Given the description of an element on the screen output the (x, y) to click on. 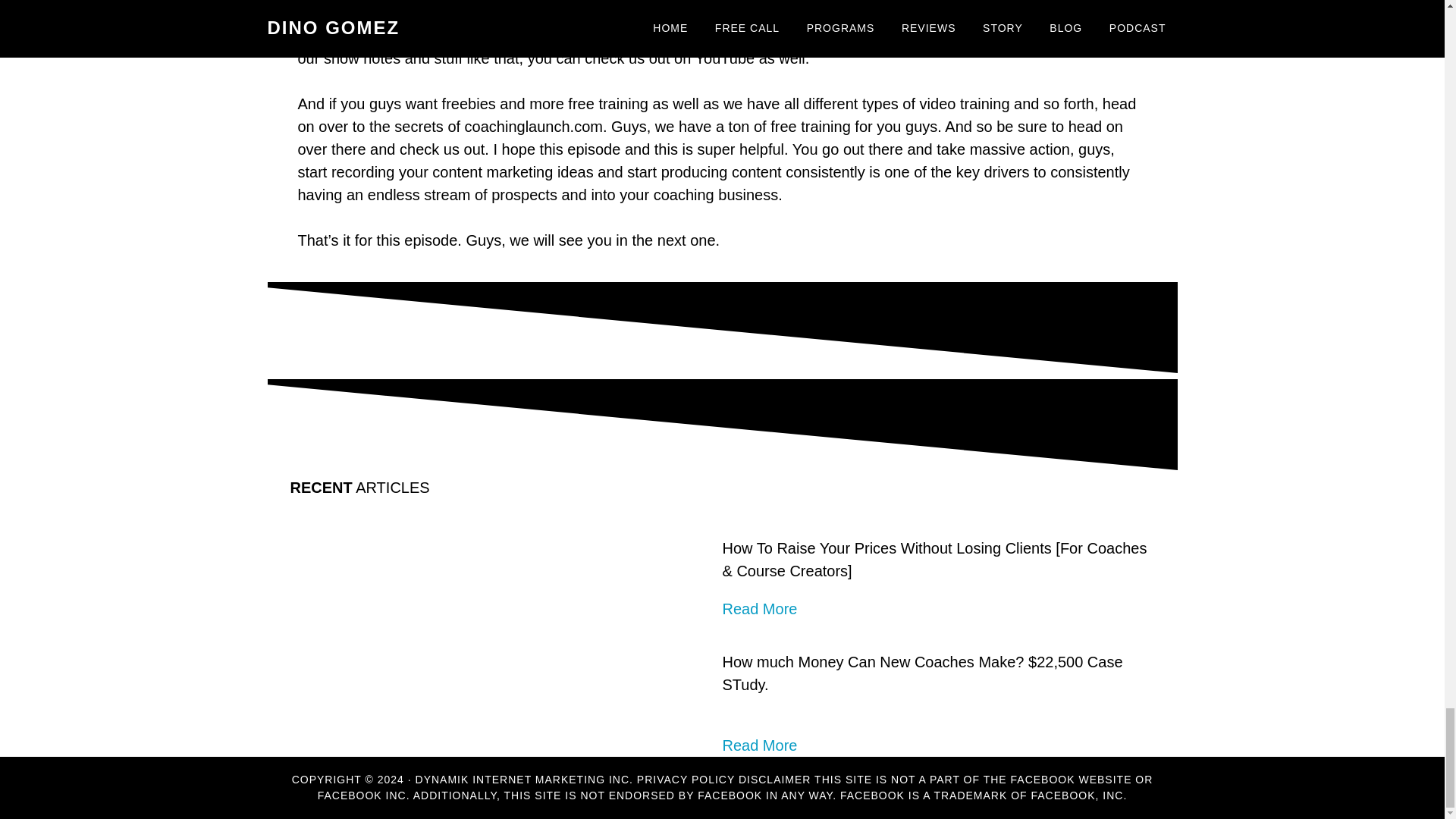
PRIVACY POLICY (686, 779)
DISCLAIMER (774, 779)
Read More (759, 608)
Read More (759, 745)
